Given the description of an element on the screen output the (x, y) to click on. 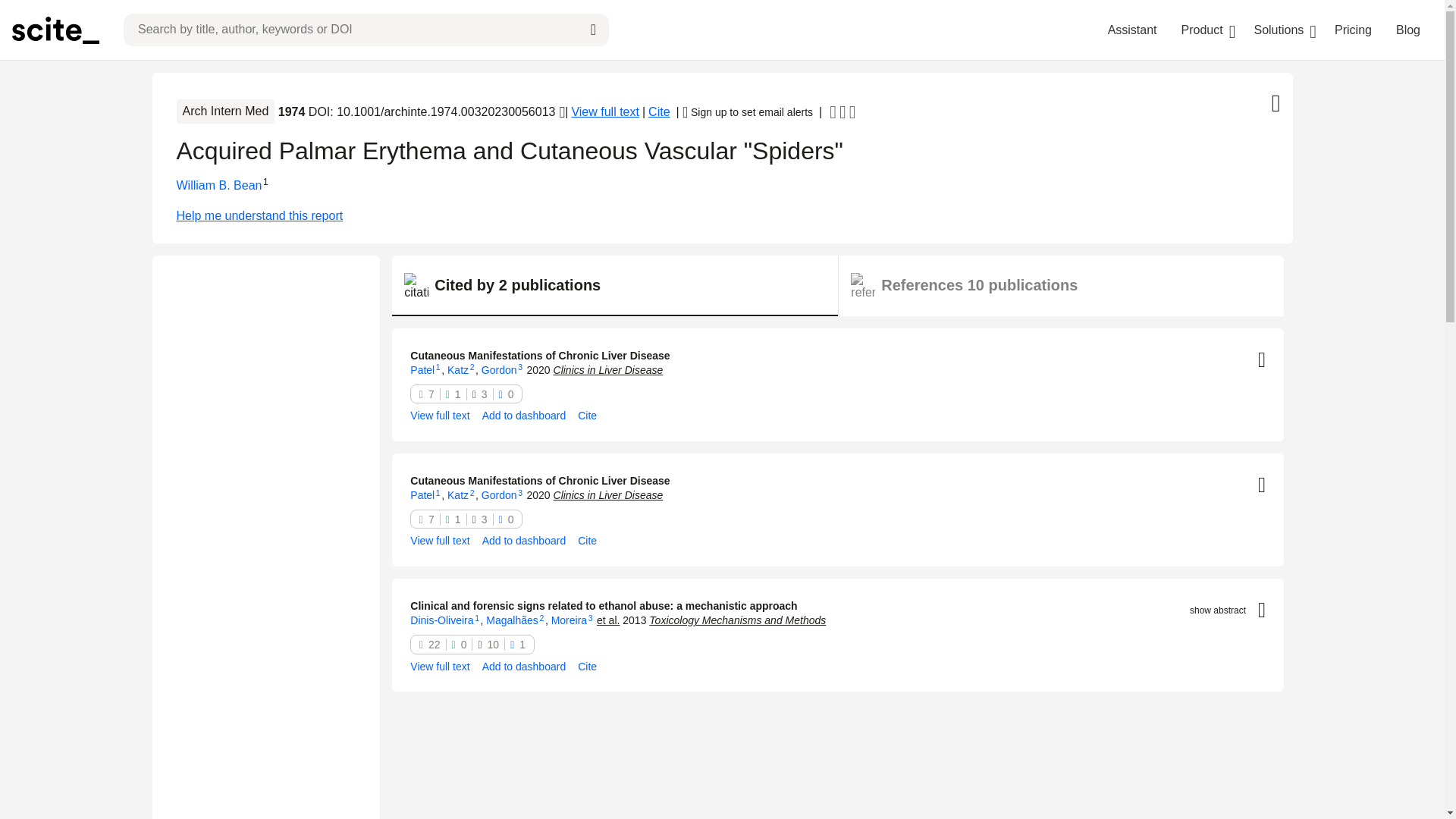
Patel (421, 369)
View full text (439, 416)
Katz (457, 369)
1 (438, 366)
Blog (1408, 29)
Patel (421, 494)
Cite (658, 112)
3 (520, 366)
View full text (604, 112)
2 (472, 366)
Clinics in Liver Disease (608, 369)
Add to dashboard (523, 416)
Help me understand this report (722, 216)
Katz (457, 494)
Cite (587, 416)
